Given the description of an element on the screen output the (x, y) to click on. 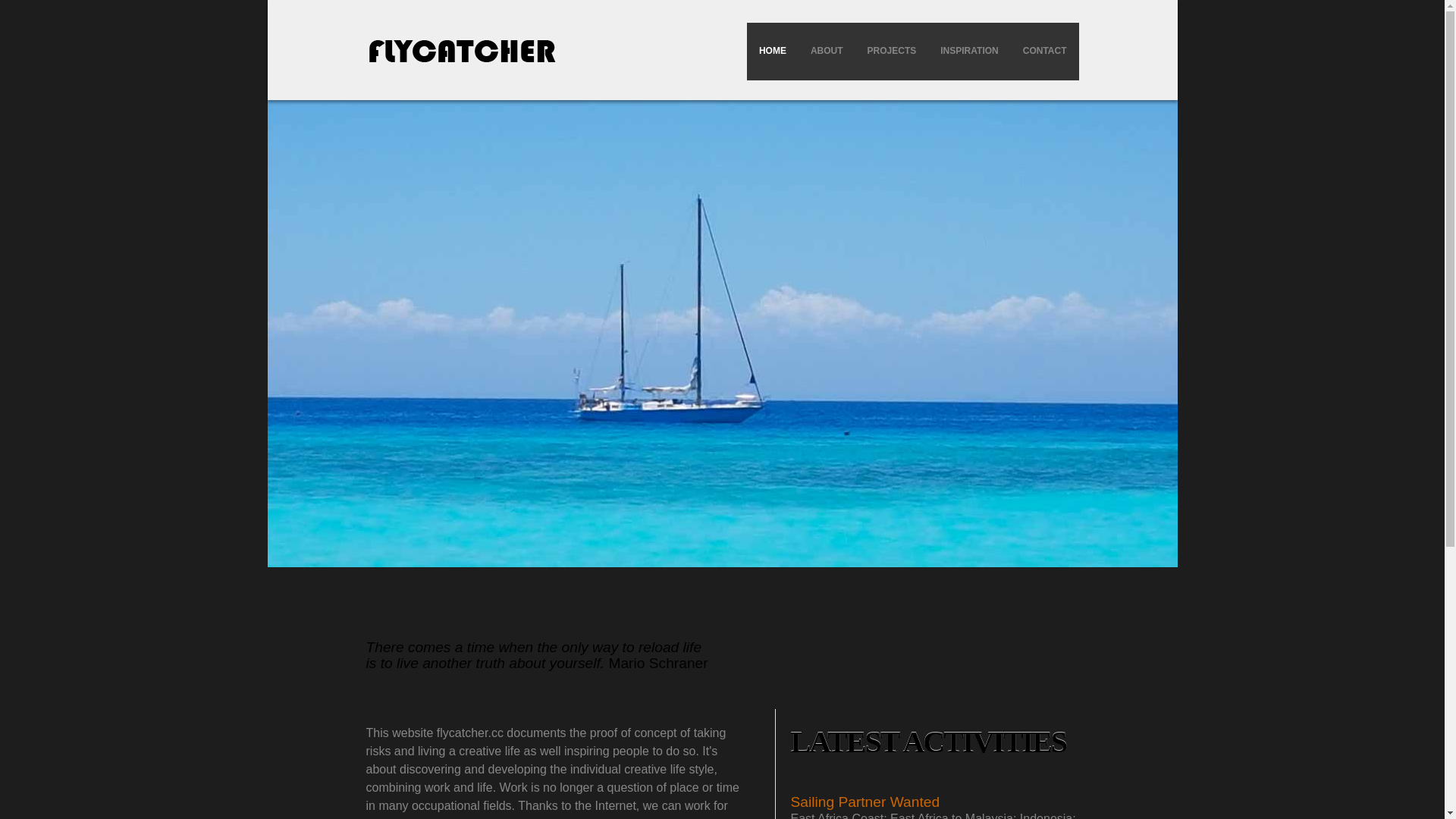
HOME (771, 51)
ABOUT (826, 51)
PROJECTS (892, 51)
CONTACT (1044, 51)
INSPIRATION (969, 51)
Sailing Partner Wanted (864, 801)
